Given the description of an element on the screen output the (x, y) to click on. 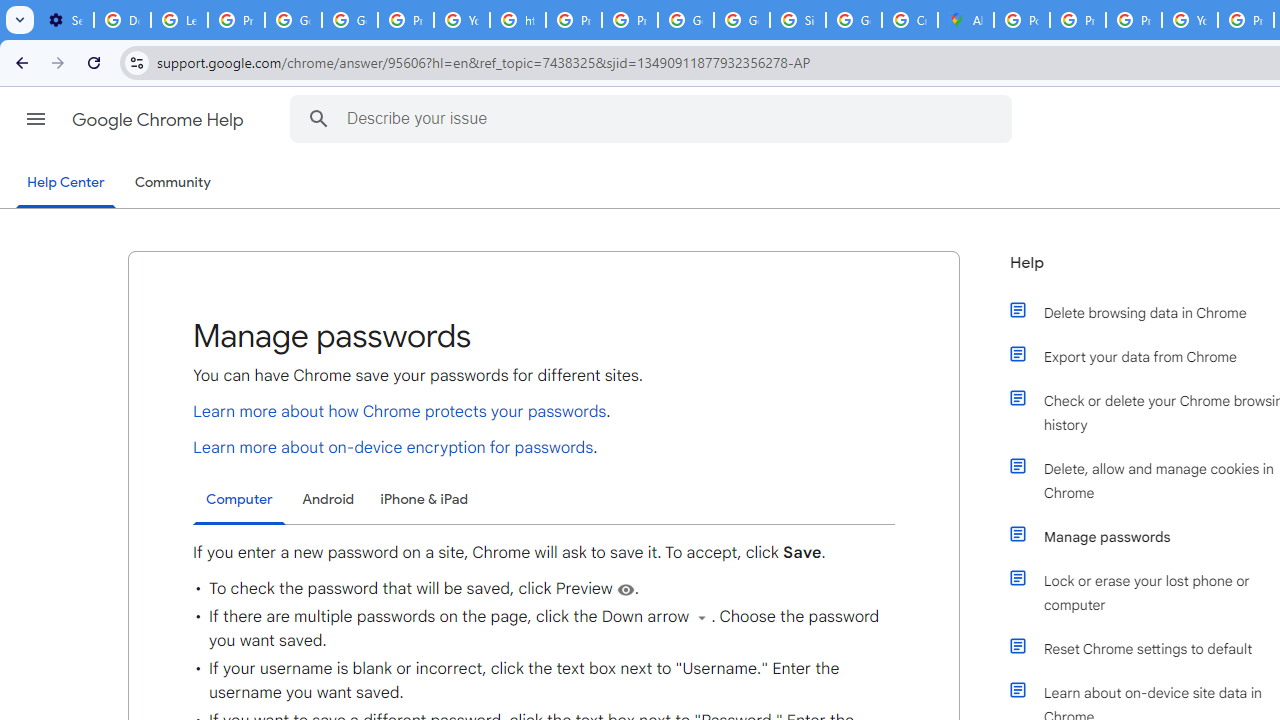
https://scholar.google.com/ (518, 20)
Learn more about on-device encryption for passwords (393, 447)
Learn how to find your photos - Google Photos Help (179, 20)
Privacy Help Center - Policies Help (573, 20)
Down arrow (701, 617)
Android (328, 498)
Main menu (35, 119)
Google Account Help (293, 20)
Search Help Center (318, 118)
Community (171, 183)
